Given the description of an element on the screen output the (x, y) to click on. 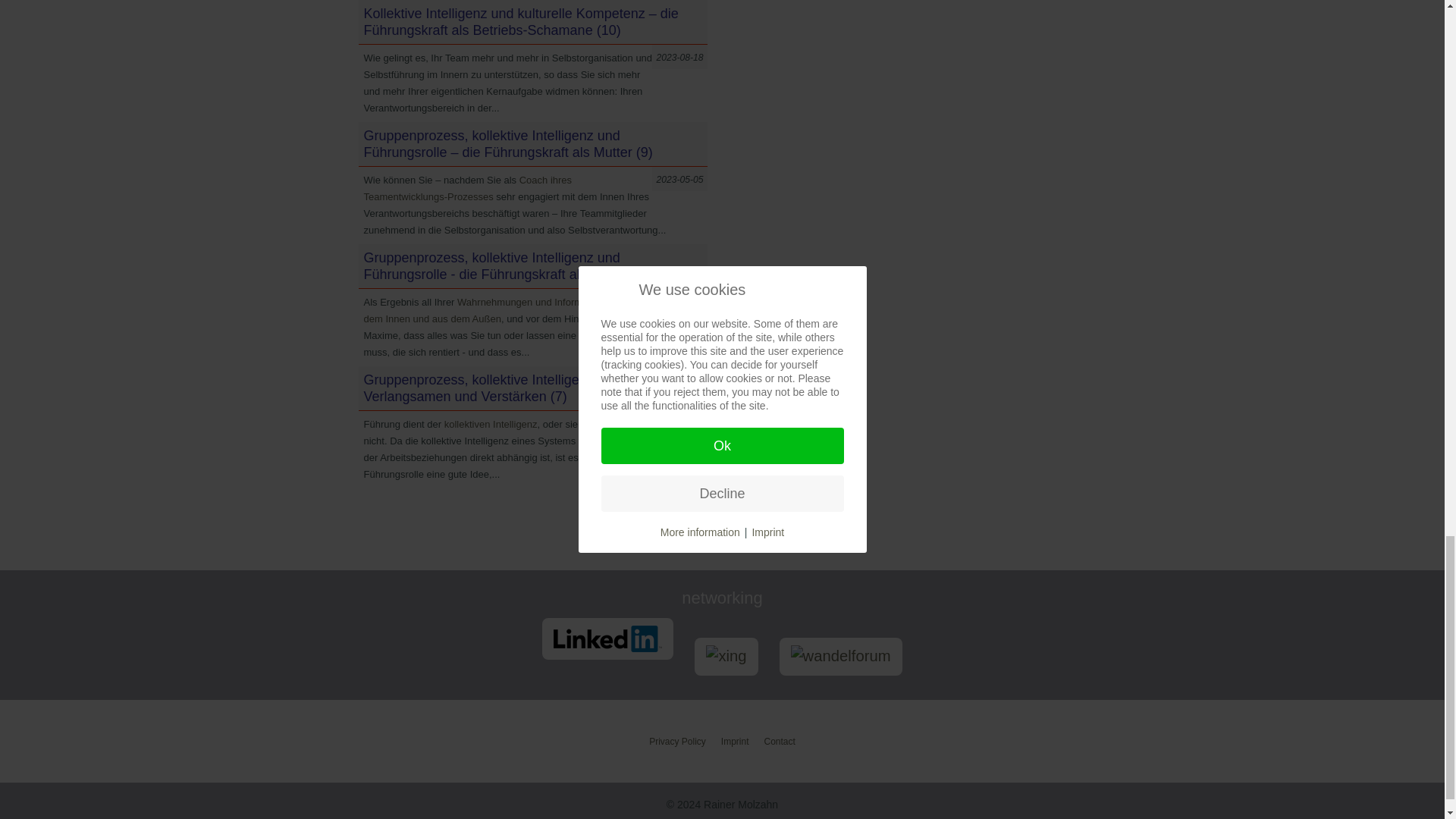
Coach ihres Teamentwicklungs-Prozesses (468, 188)
Privacy Policy (677, 741)
kollektiven Intelligenz (490, 423)
